Given the description of an element on the screen output the (x, y) to click on. 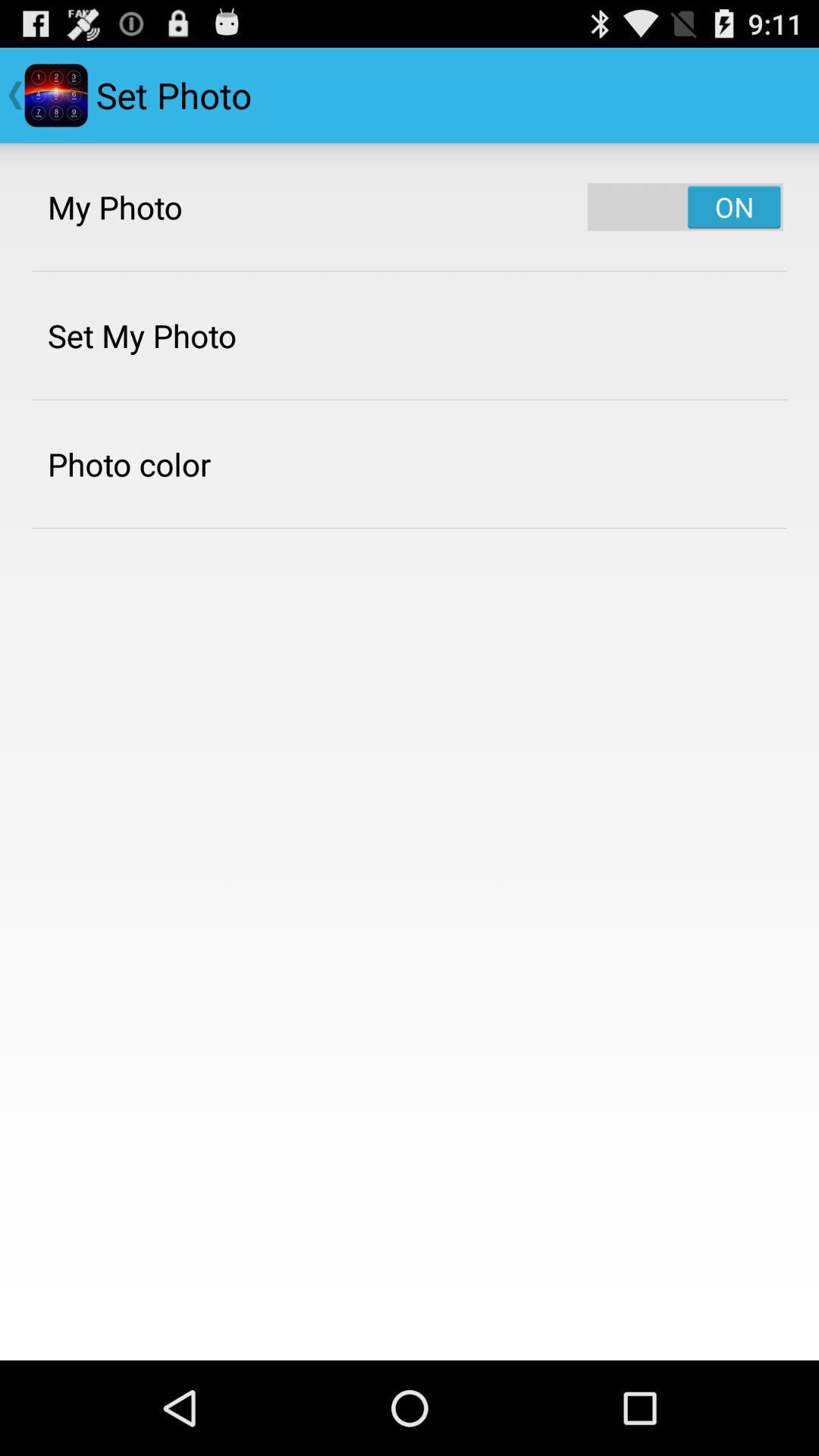
open app to the right of the my photo app (685, 206)
